Given the description of an element on the screen output the (x, y) to click on. 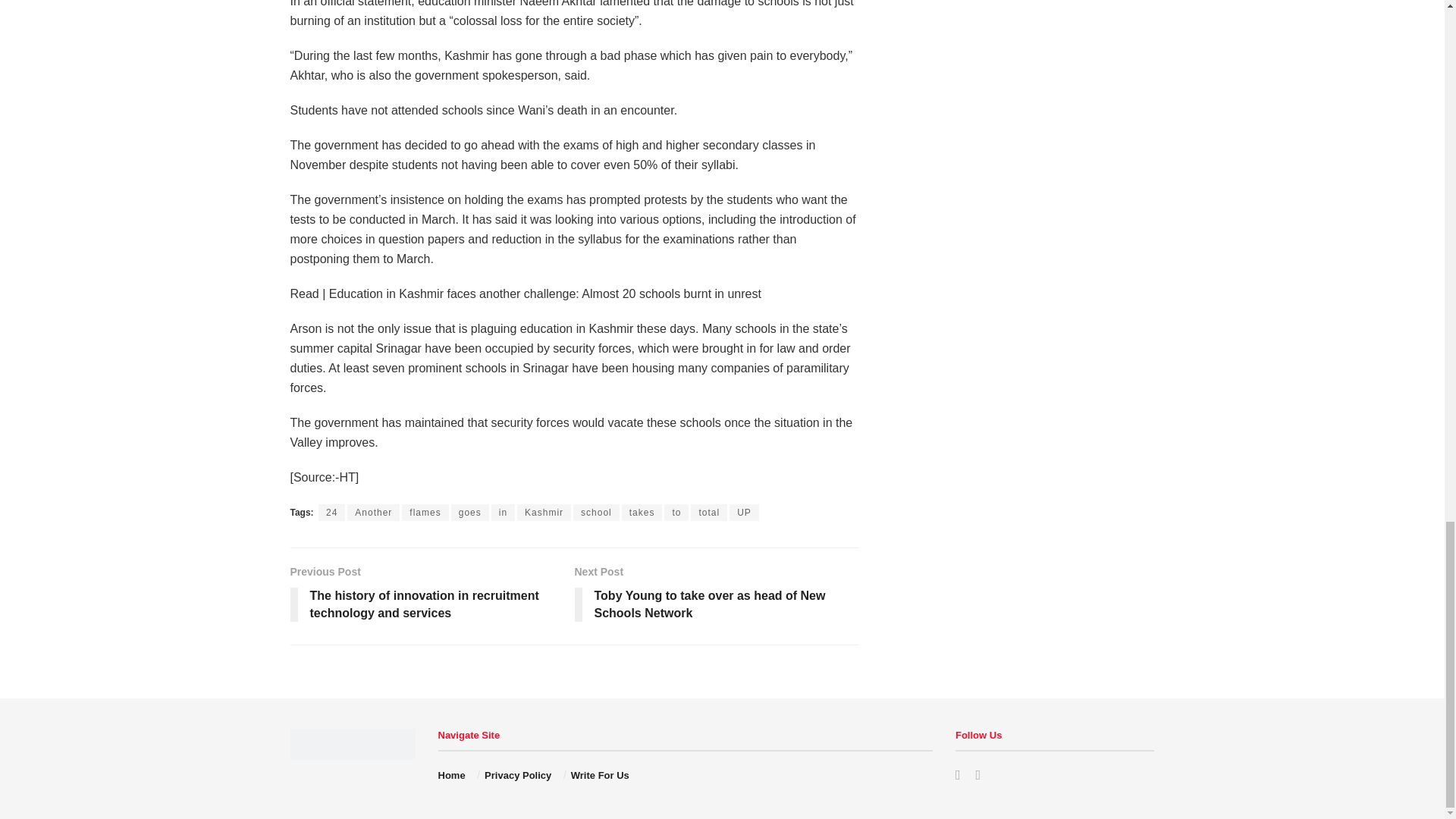
flames (424, 512)
in (503, 512)
goes (470, 512)
Another (372, 512)
24 (331, 512)
